Given the description of an element on the screen output the (x, y) to click on. 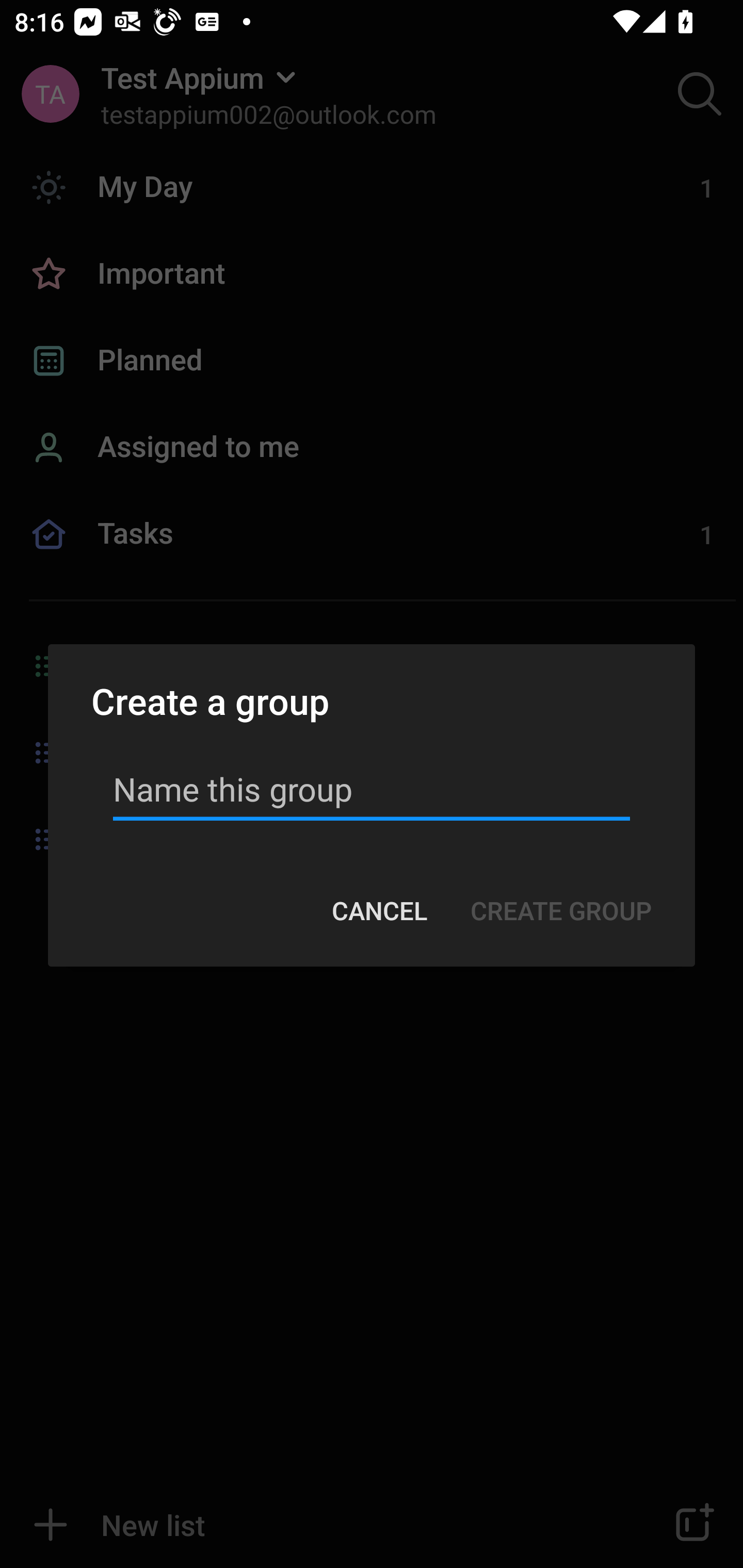
Name this group (371, 789)
CANCEL (378, 910)
CREATE GROUP (560, 910)
